Given the description of an element on the screen output the (x, y) to click on. 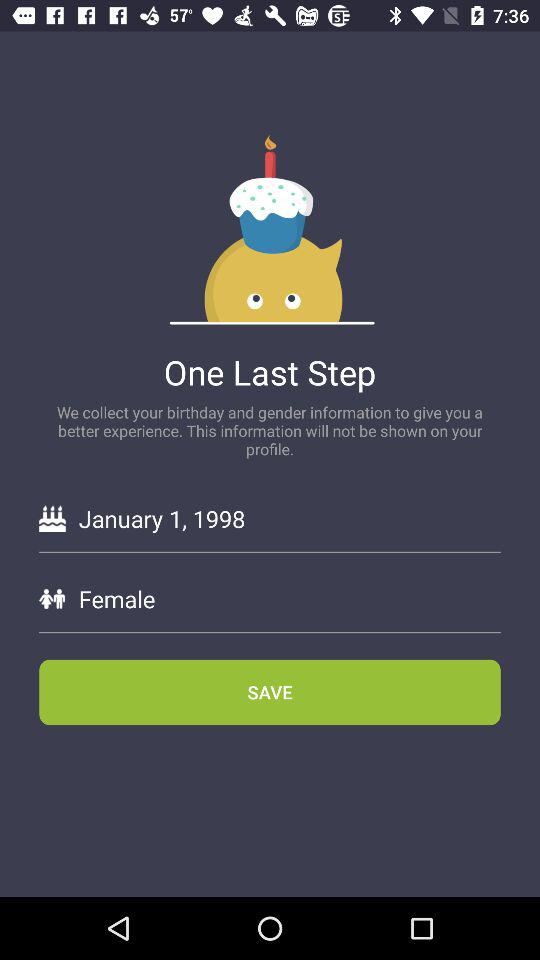
tap item below we collect your item (289, 518)
